Given the description of an element on the screen output the (x, y) to click on. 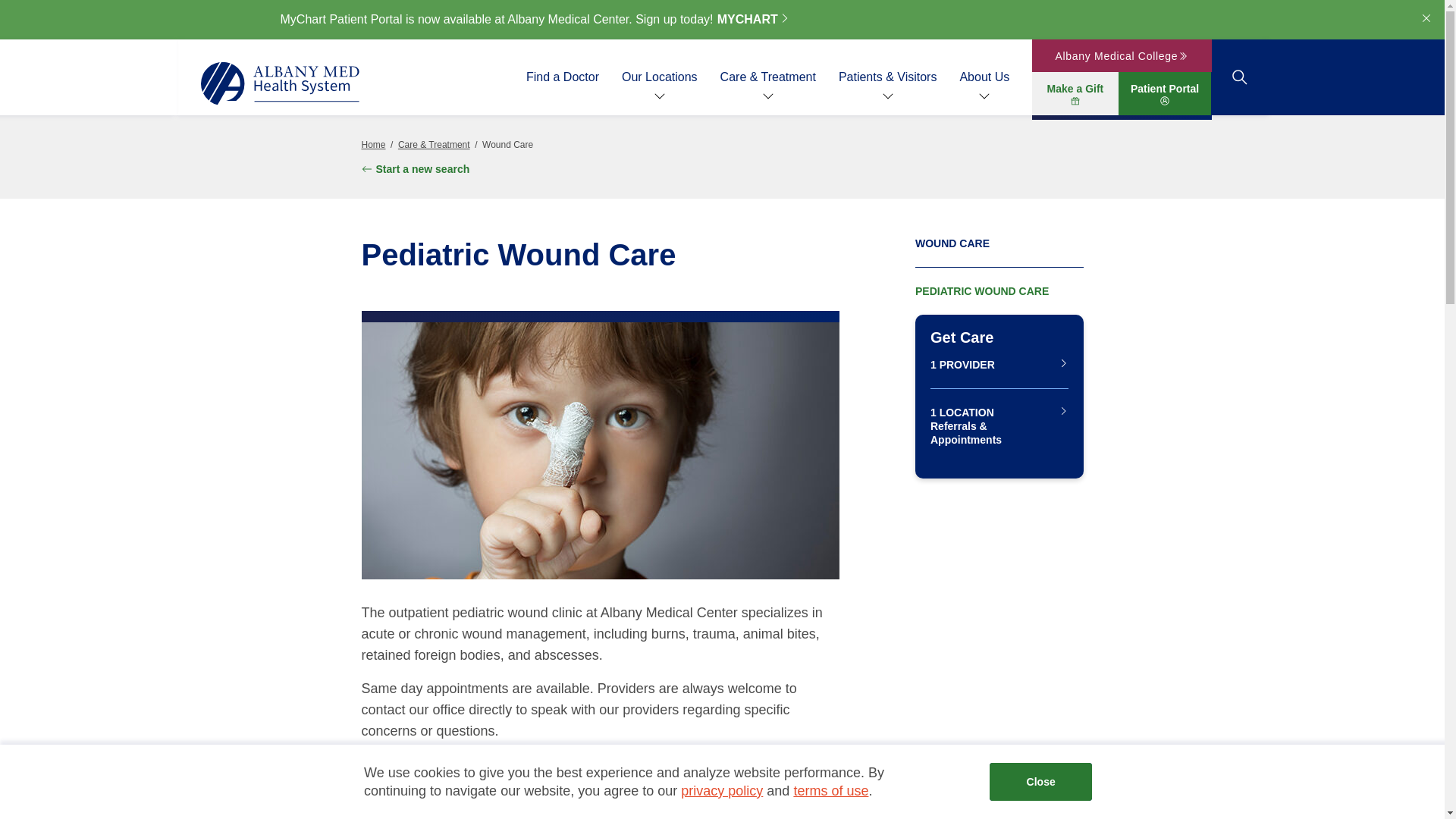
Albany Med Health System (279, 83)
Find a Doctor (561, 77)
MYCHART (753, 19)
Our Locations (659, 77)
